Given the description of an element on the screen output the (x, y) to click on. 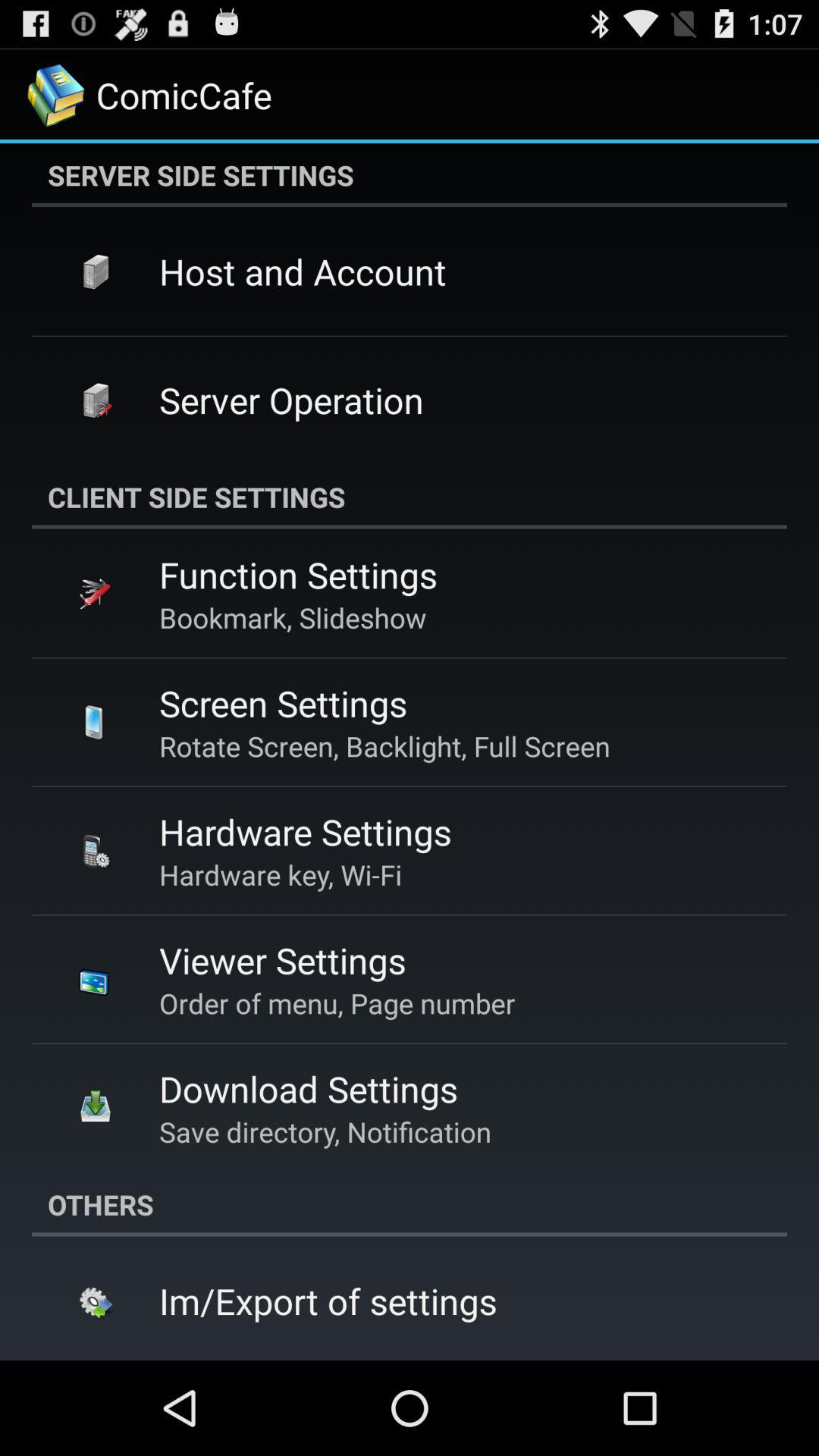
select host and account icon (302, 271)
